Given the description of an element on the screen output the (x, y) to click on. 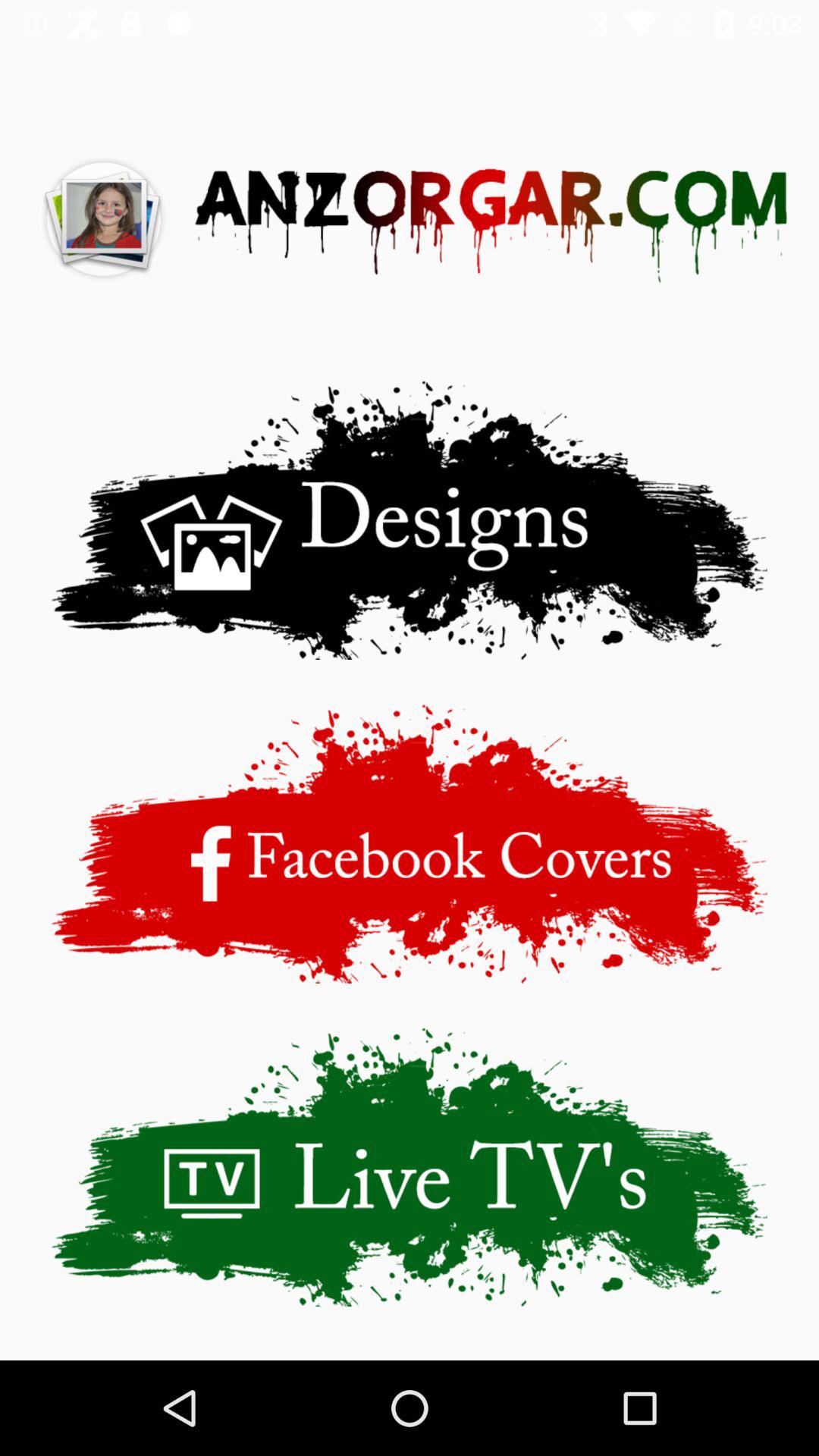
advertisement (409, 843)
